Given the description of an element on the screen output the (x, y) to click on. 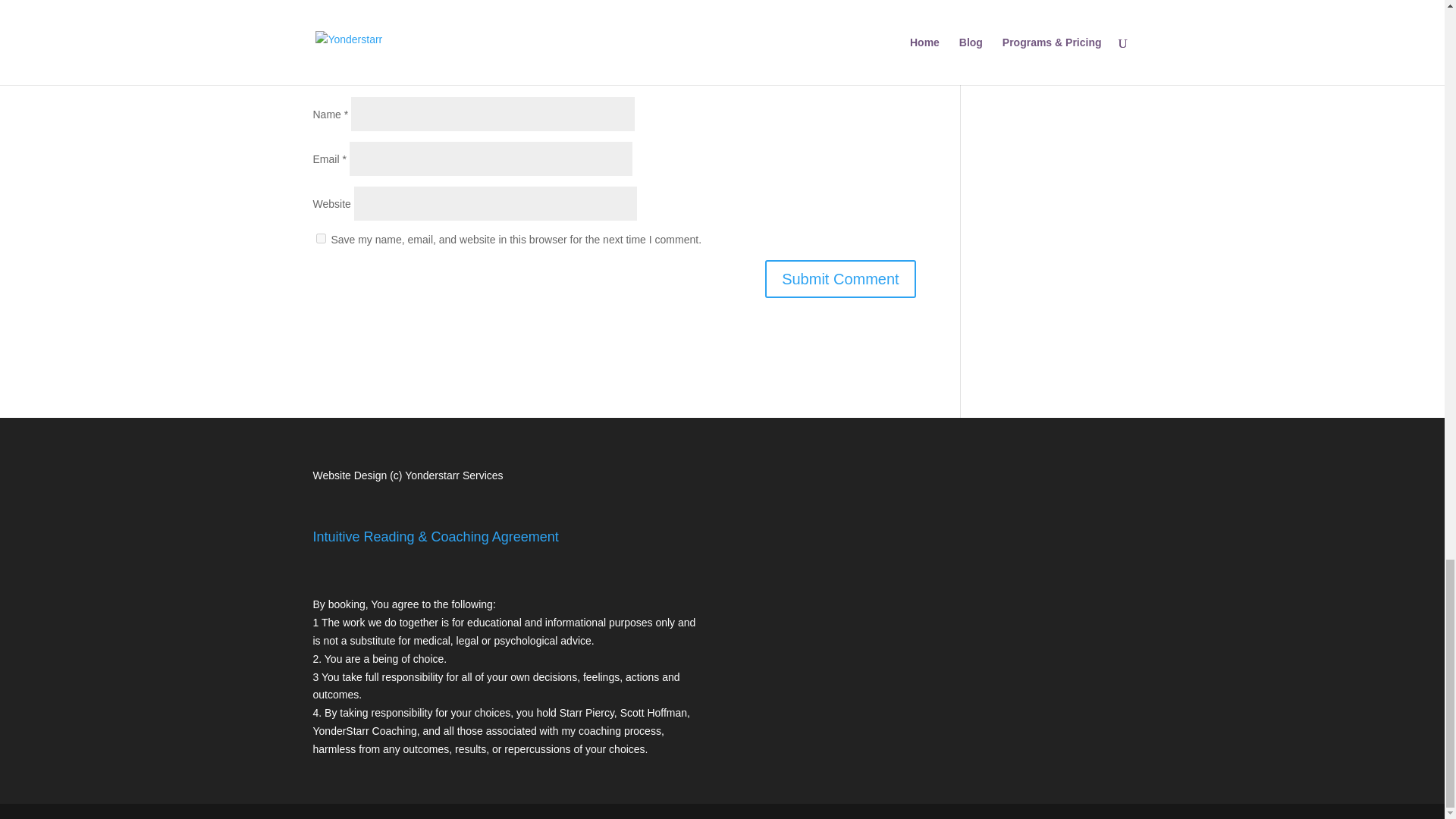
Submit Comment (840, 279)
yes (319, 238)
Submit Comment (840, 279)
